Given the description of an element on the screen output the (x, y) to click on. 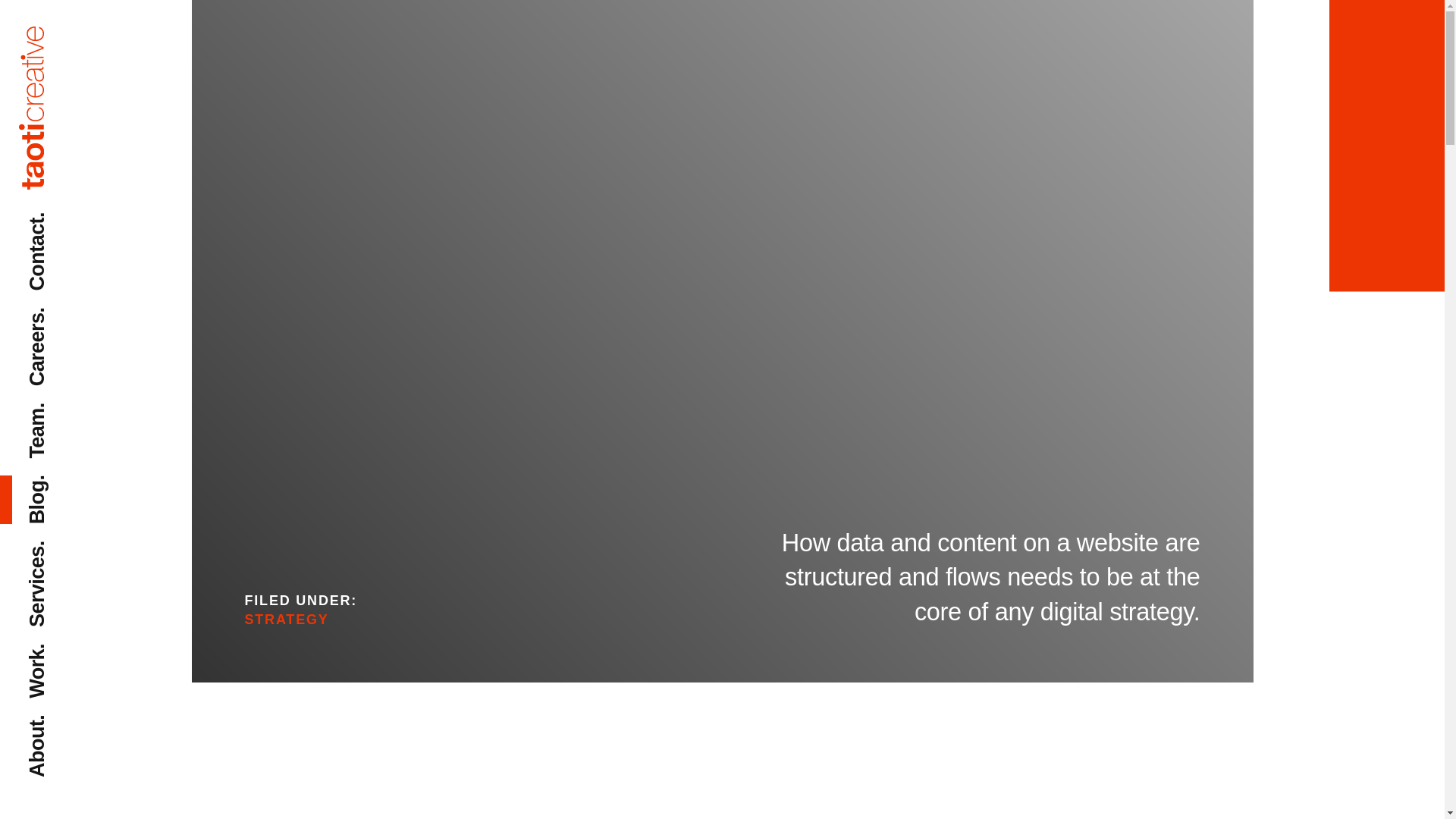
STRATEGY (286, 619)
Contact. (66, 222)
Blog. (52, 485)
Careers. (66, 317)
About. (57, 724)
Work. (54, 653)
Services. (70, 550)
Team. (54, 412)
